Given the description of an element on the screen output the (x, y) to click on. 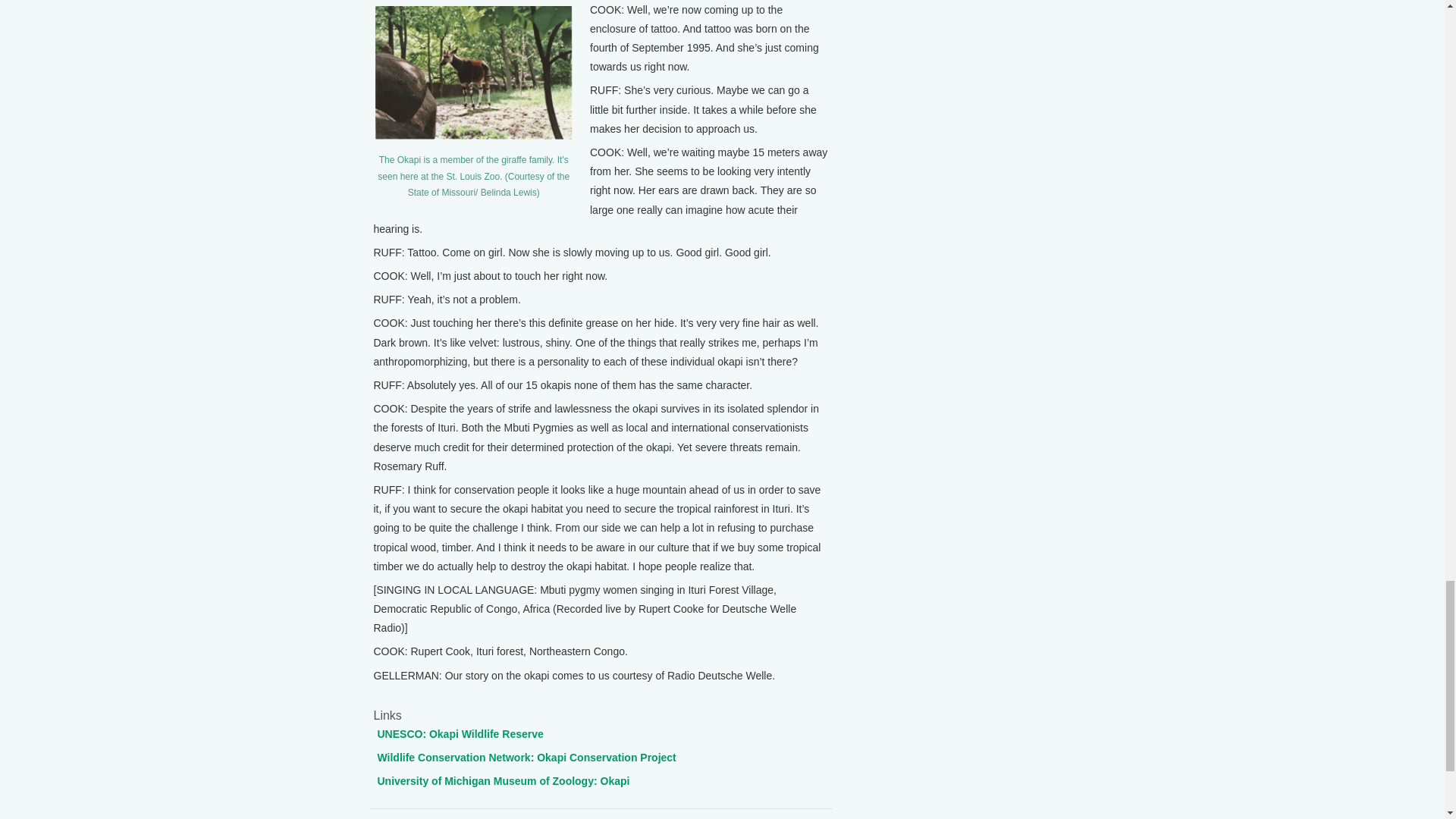
Wildlife Conservation Network: Okapi Conservation Project (527, 757)
University of Michigan Museum of Zoology: Okapi (503, 780)
UNESCO: Okapi Wildlife Reserve (460, 734)
